Given the description of an element on the screen output the (x, y) to click on. 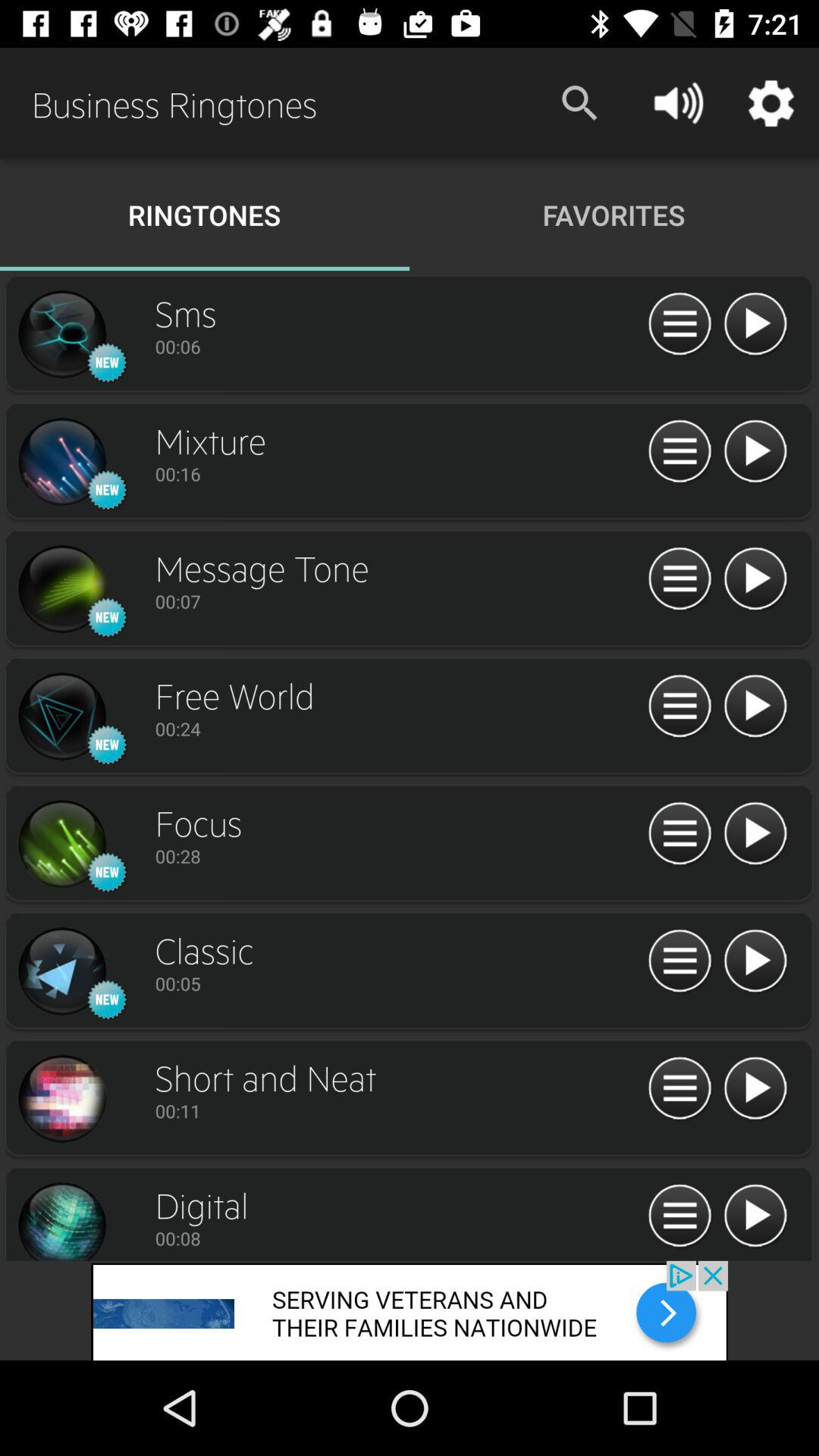
autoplay option turned on (755, 451)
